Given the description of an element on the screen output the (x, y) to click on. 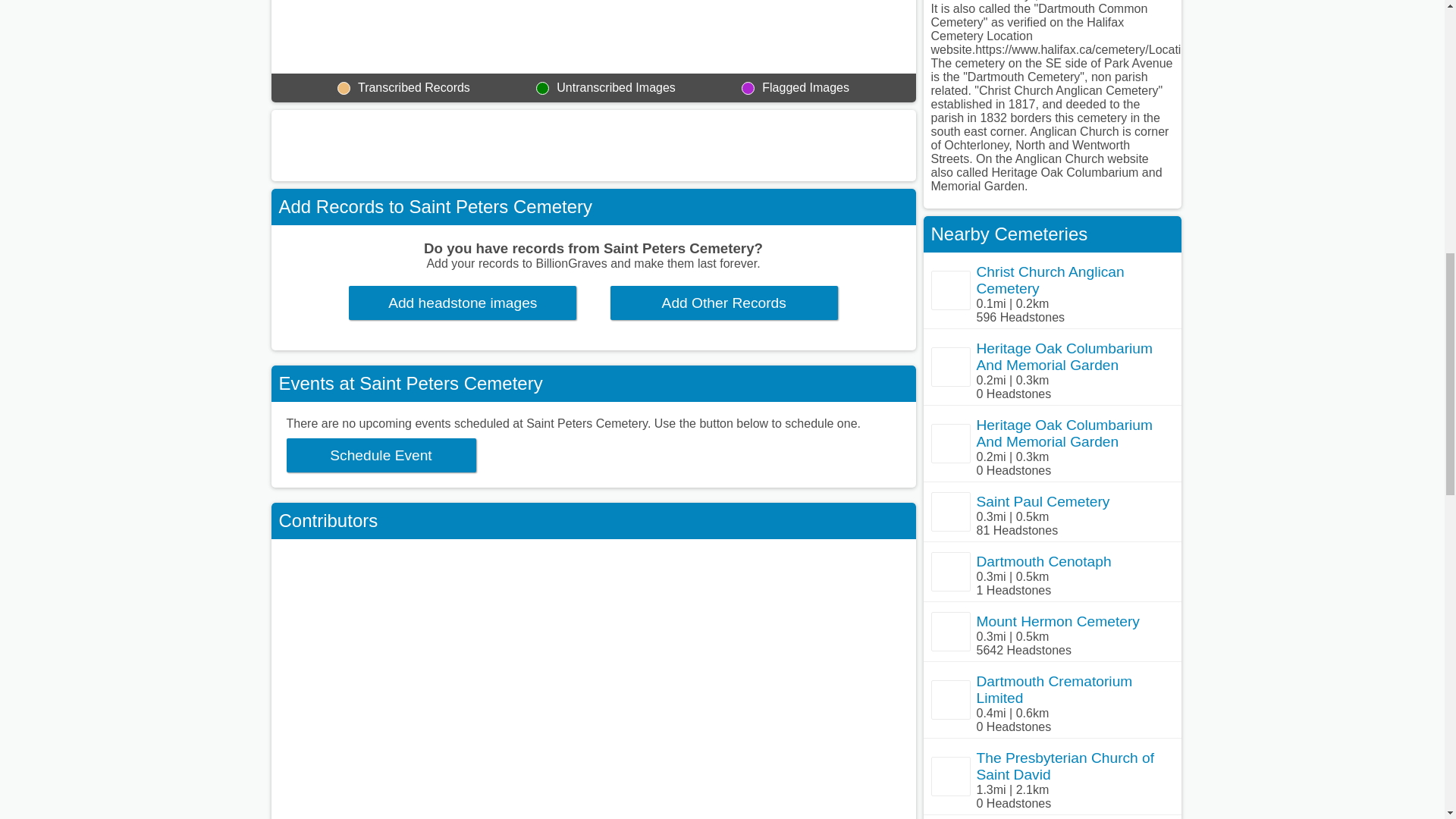
Schedule Event (381, 455)
Add headstone images (462, 302)
Add Other Records (724, 302)
